Given the description of an element on the screen output the (x, y) to click on. 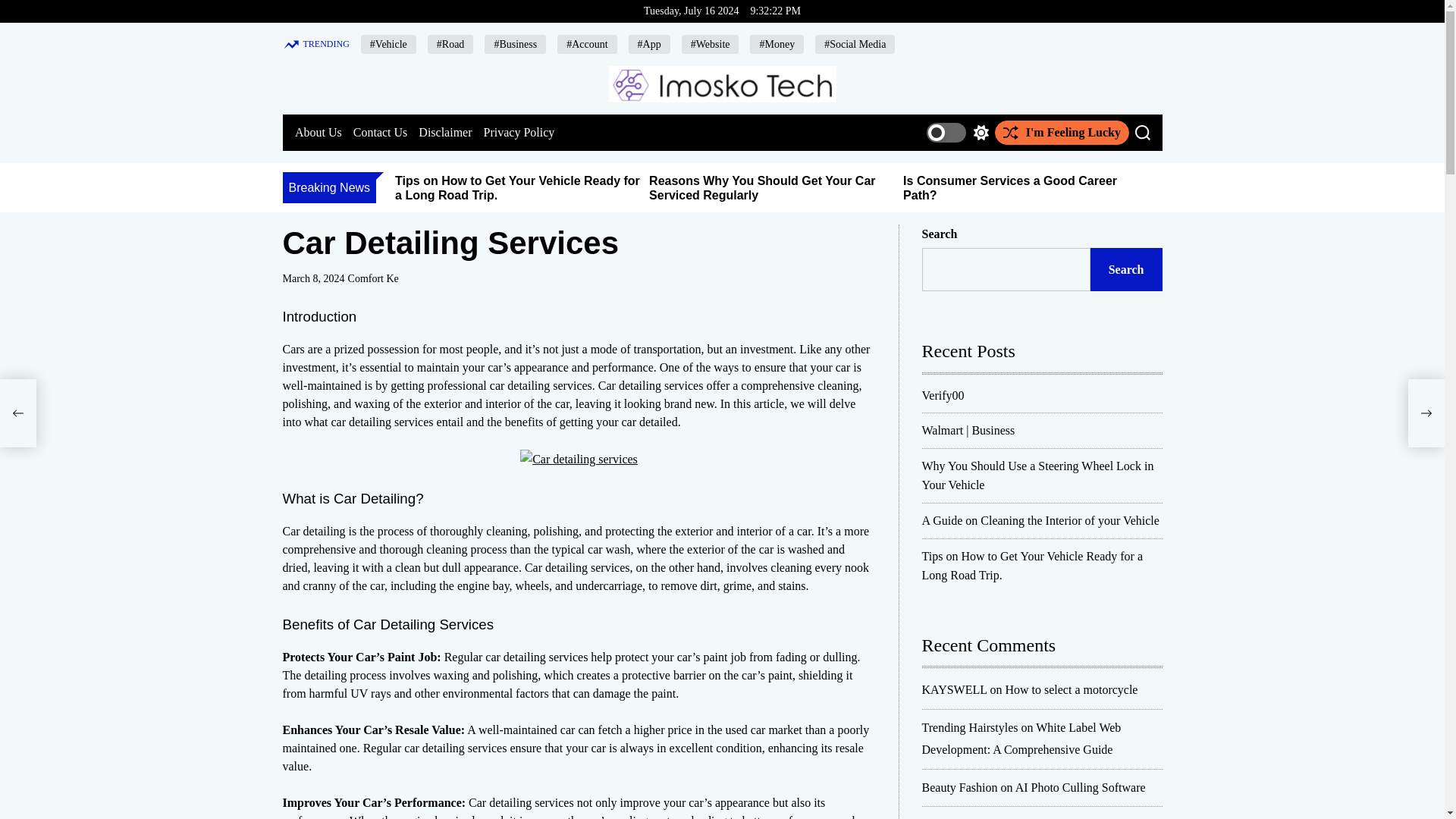
I'm Feeling Lucky (1061, 132)
Tips on How to Get Your Vehicle Ready for a Long Road Trip. (517, 187)
Reasons Why You Should Get Your Car Serviced Regularly (762, 187)
Switch color mode (957, 132)
Is Consumer Services a Good Career Path? (1009, 187)
Privacy Policy (518, 132)
March 8, 2024 (312, 279)
Comfort Ke (372, 278)
Car detailing services (578, 459)
About Us (317, 132)
Contact Us (379, 132)
Search (1142, 132)
Disclaimer (445, 132)
